Given the description of an element on the screen output the (x, y) to click on. 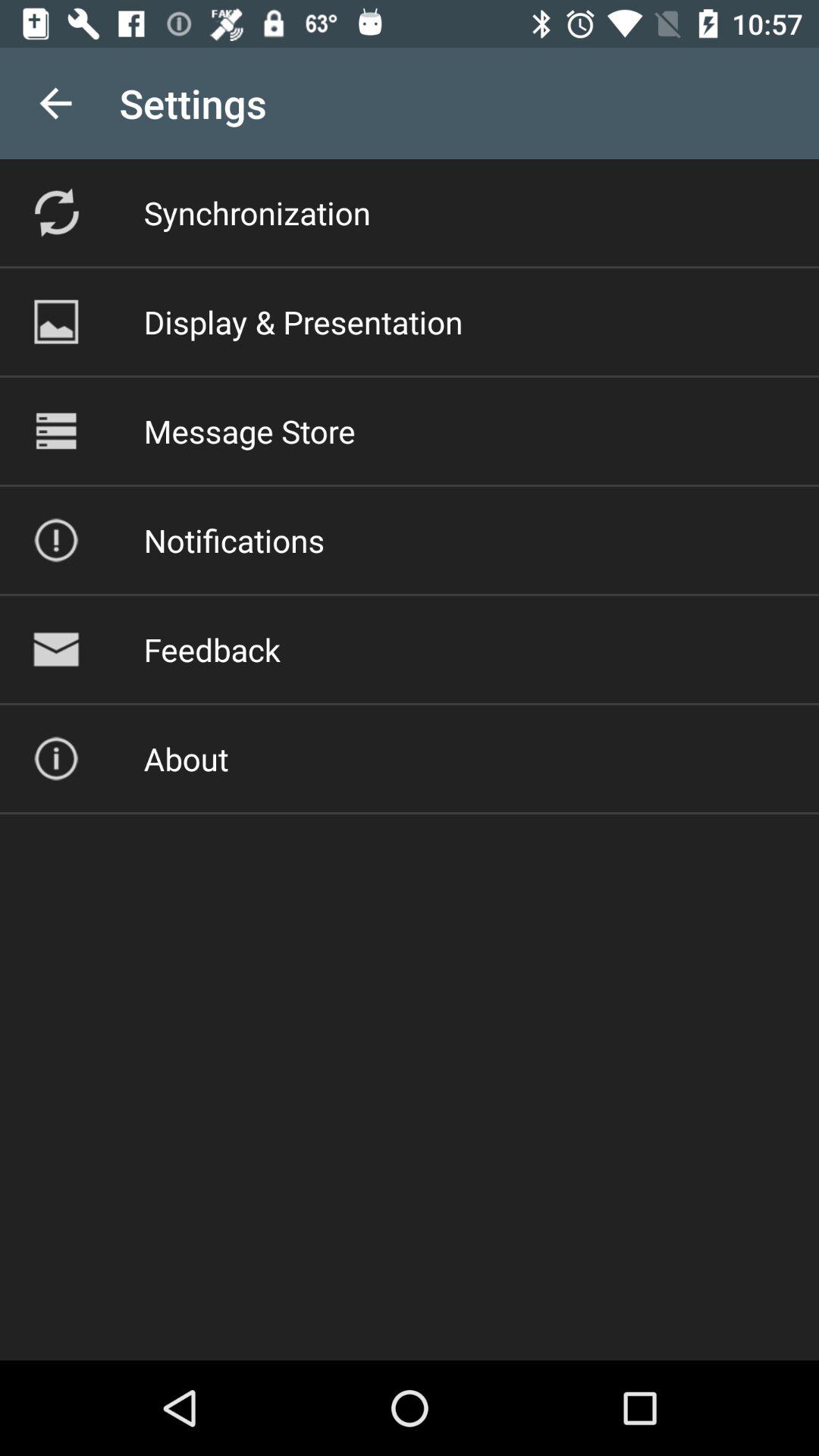
jump until the display & presentation (302, 321)
